Given the description of an element on the screen output the (x, y) to click on. 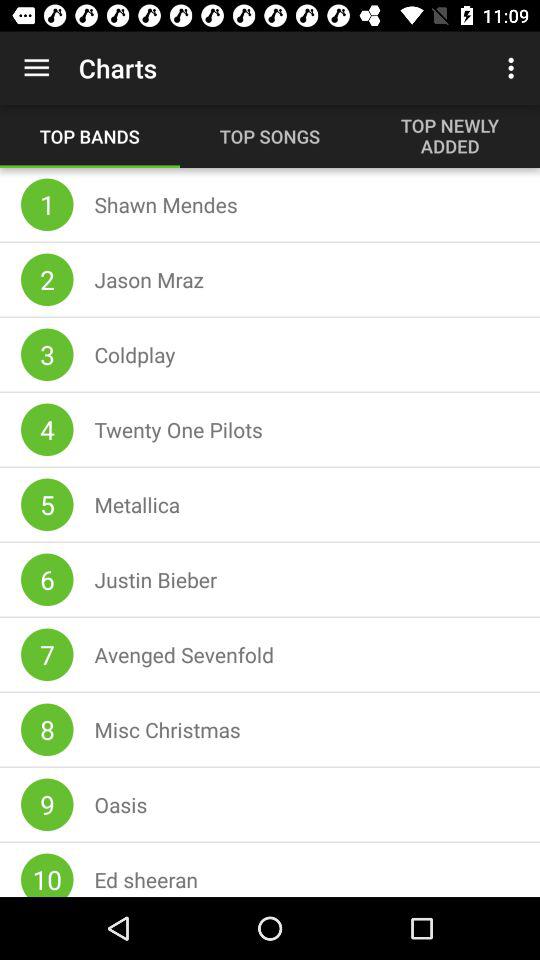
click item above top bands item (36, 68)
